Given the description of an element on the screen output the (x, y) to click on. 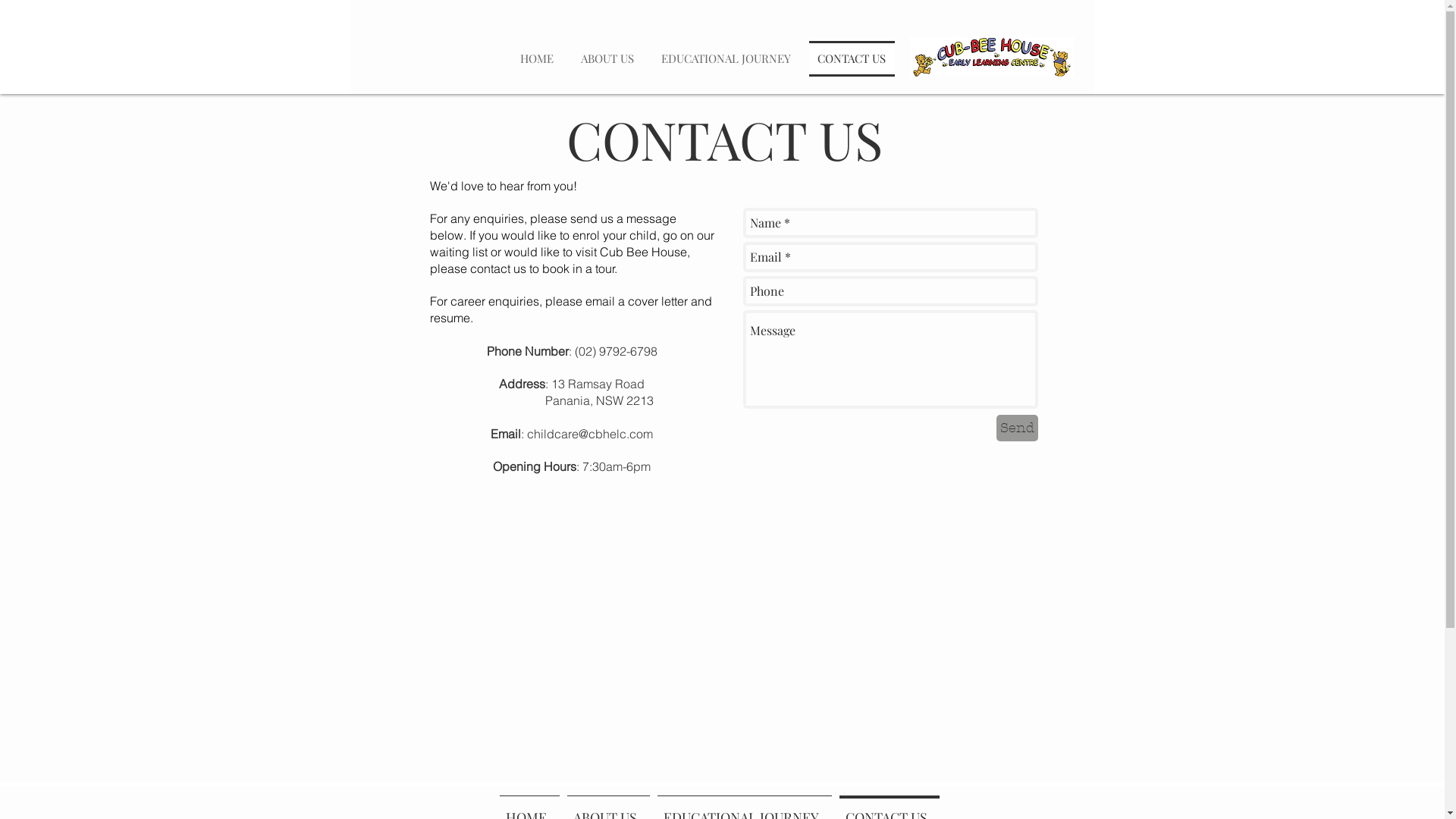
childcare@cbhelc.com Element type: text (589, 433)
HOME Element type: text (539, 58)
EDUCATIONAL JOURNEY Element type: text (725, 58)
Send Element type: text (1017, 427)
CONTACT US Element type: text (848, 58)
